Given the description of an element on the screen output the (x, y) to click on. 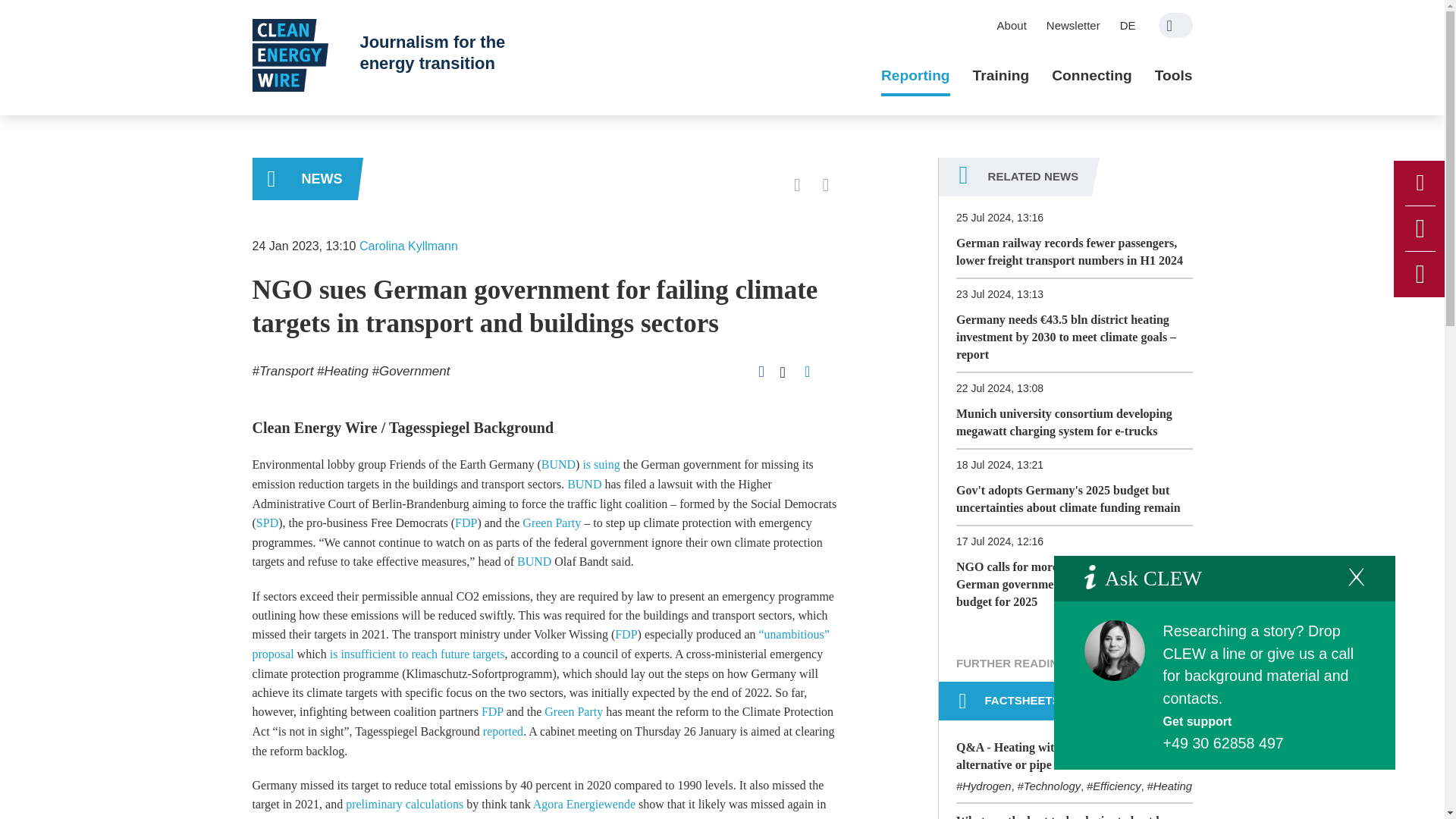
Newsletter (1072, 25)
Government (410, 370)
Connecting (1091, 75)
Reporting (915, 75)
DE (1127, 25)
NEWS (303, 178)
Training (1000, 75)
Tools (1173, 75)
Search (1175, 25)
Heating (342, 370)
About (1011, 25)
Transport (282, 370)
Carolina Kyllmann (408, 245)
